Given the description of an element on the screen output the (x, y) to click on. 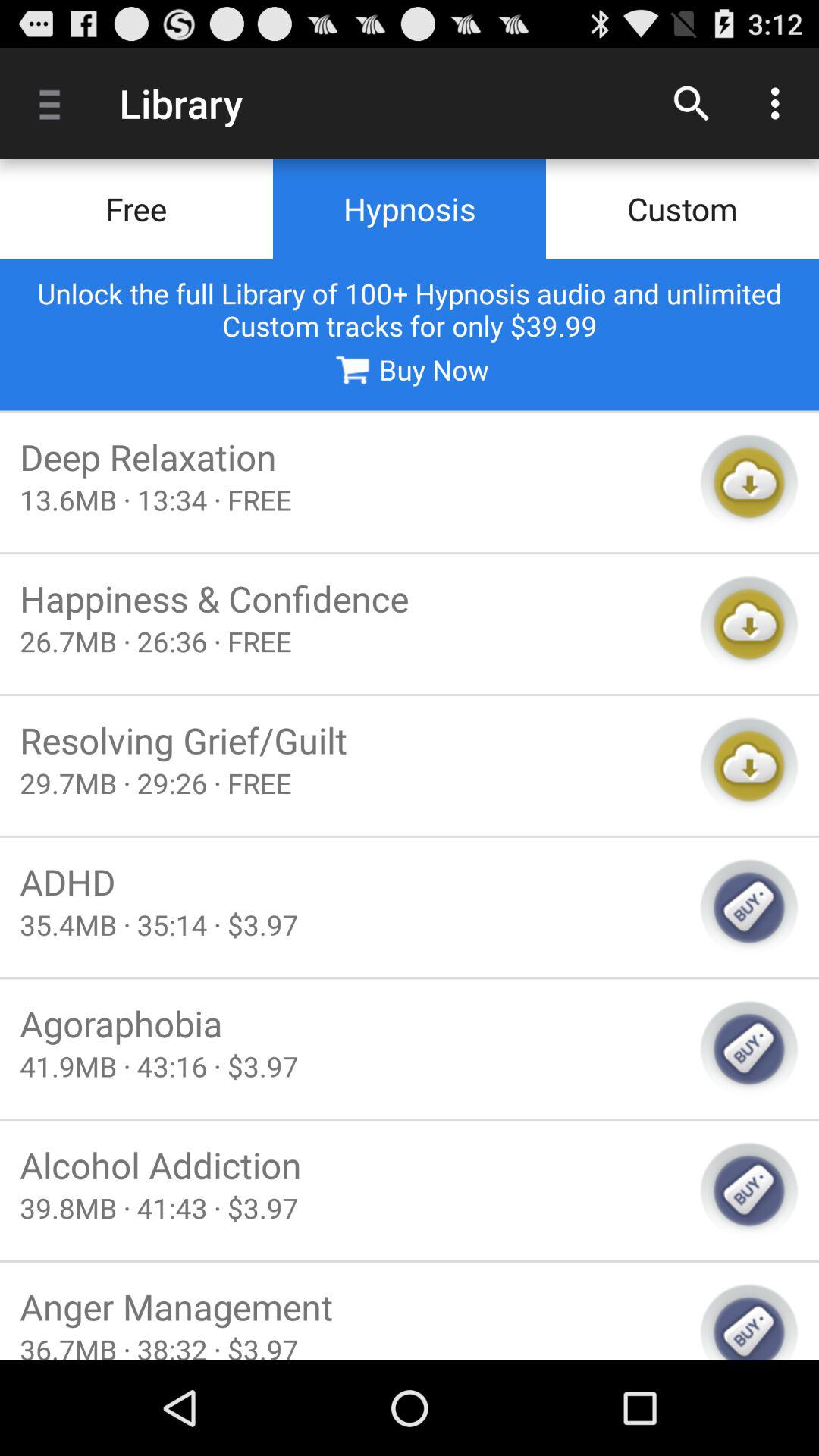
download to cloud (749, 765)
